Given the description of an element on the screen output the (x, y) to click on. 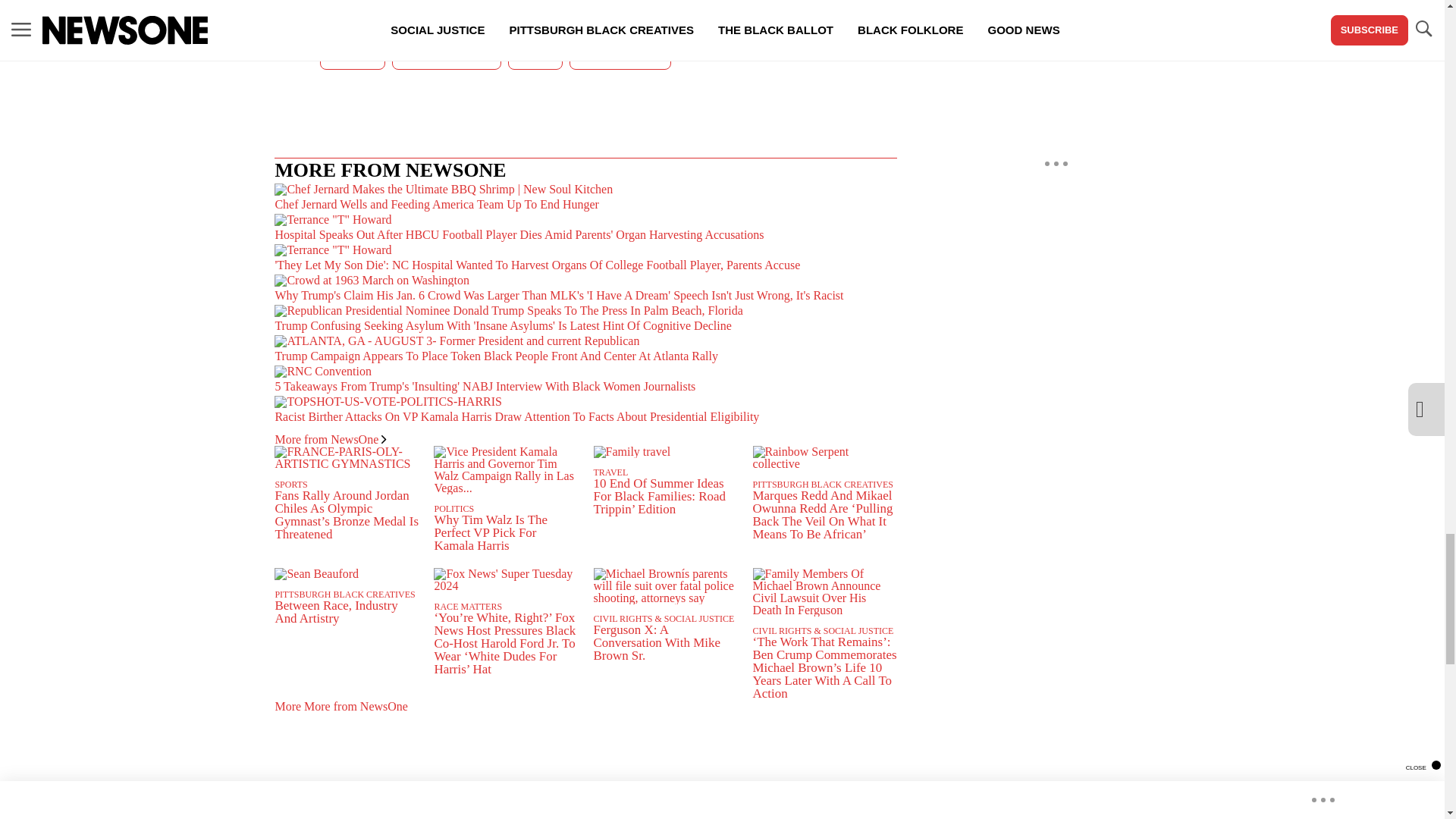
TIMOTHY DEAN (620, 55)
LGBTQ (535, 55)
ED BUCK (352, 55)
GEMMEL MOORE (446, 55)
Chef Jernard Wells and Feeding America Team Up To End Hunger (585, 198)
